Given the description of an element on the screen output the (x, y) to click on. 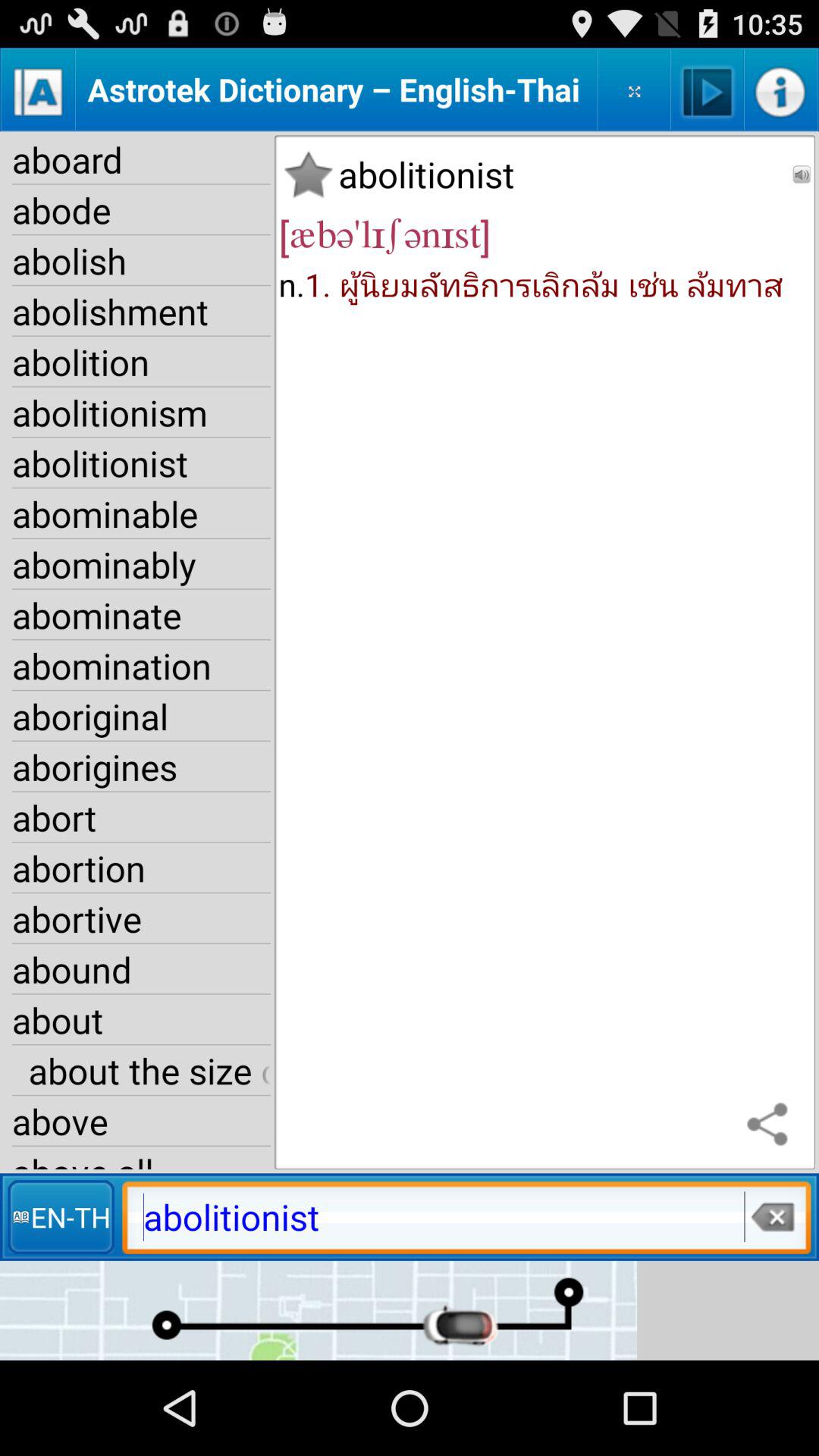
favorite word (308, 174)
